Given the description of an element on the screen output the (x, y) to click on. 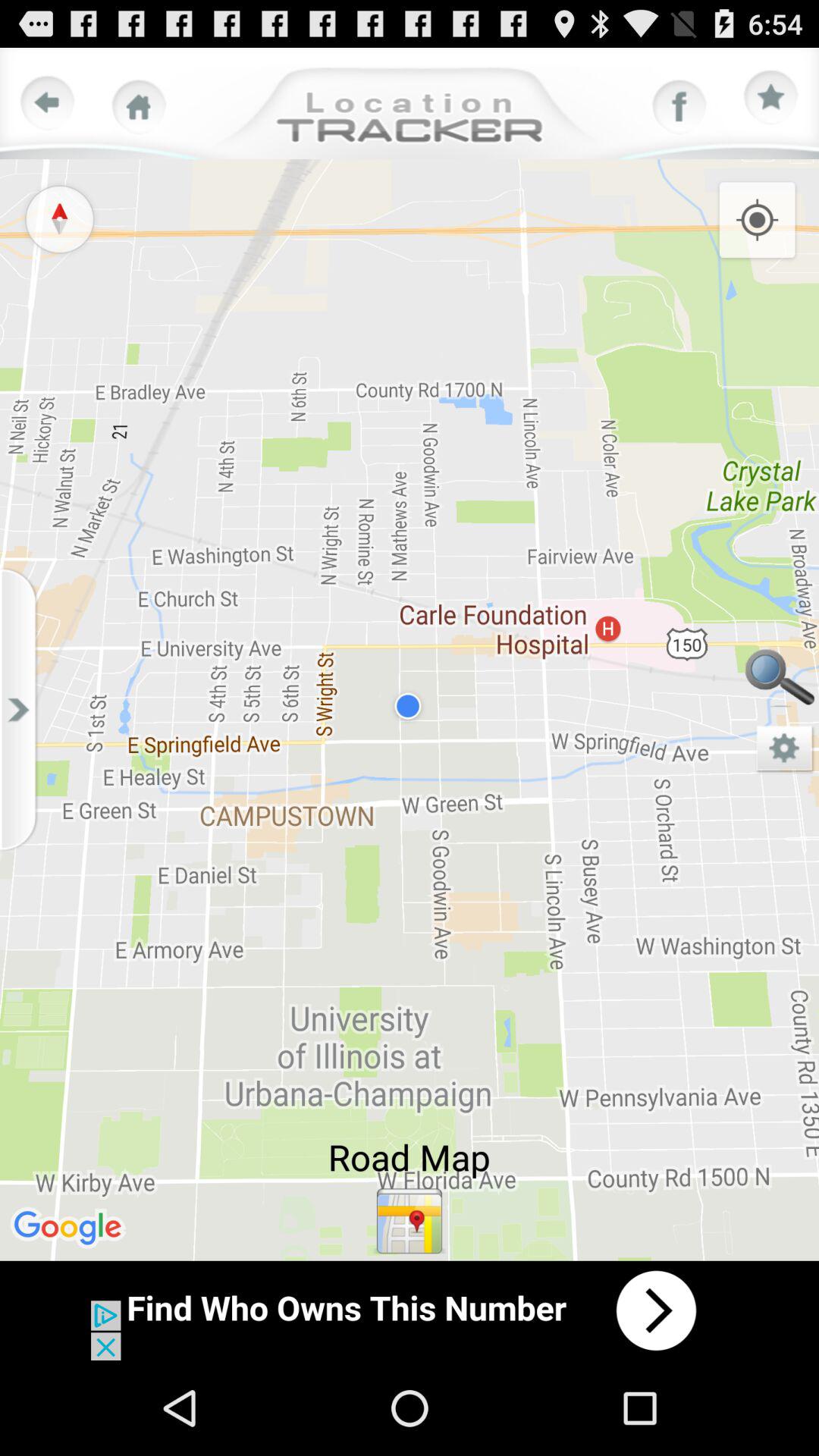
advertisement page (409, 1310)
